Given the description of an element on the screen output the (x, y) to click on. 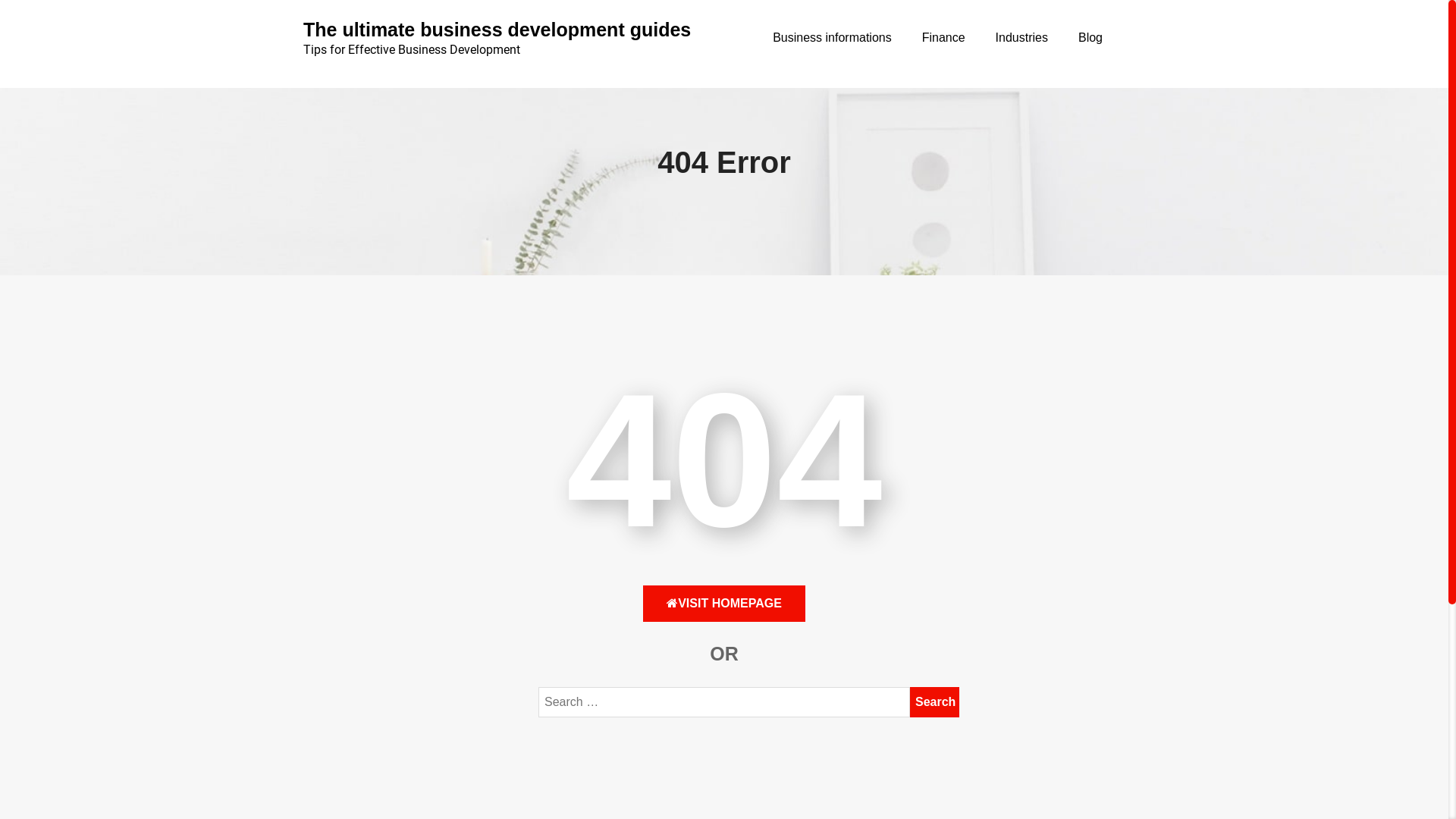
Industries Element type: text (1021, 37)
Search Element type: text (934, 702)
Finance Element type: text (943, 37)
Business informations Element type: text (831, 37)
VISIT HOMEPAGE Element type: text (724, 603)
Blog Element type: text (1090, 37)
